Given the description of an element on the screen output the (x, y) to click on. 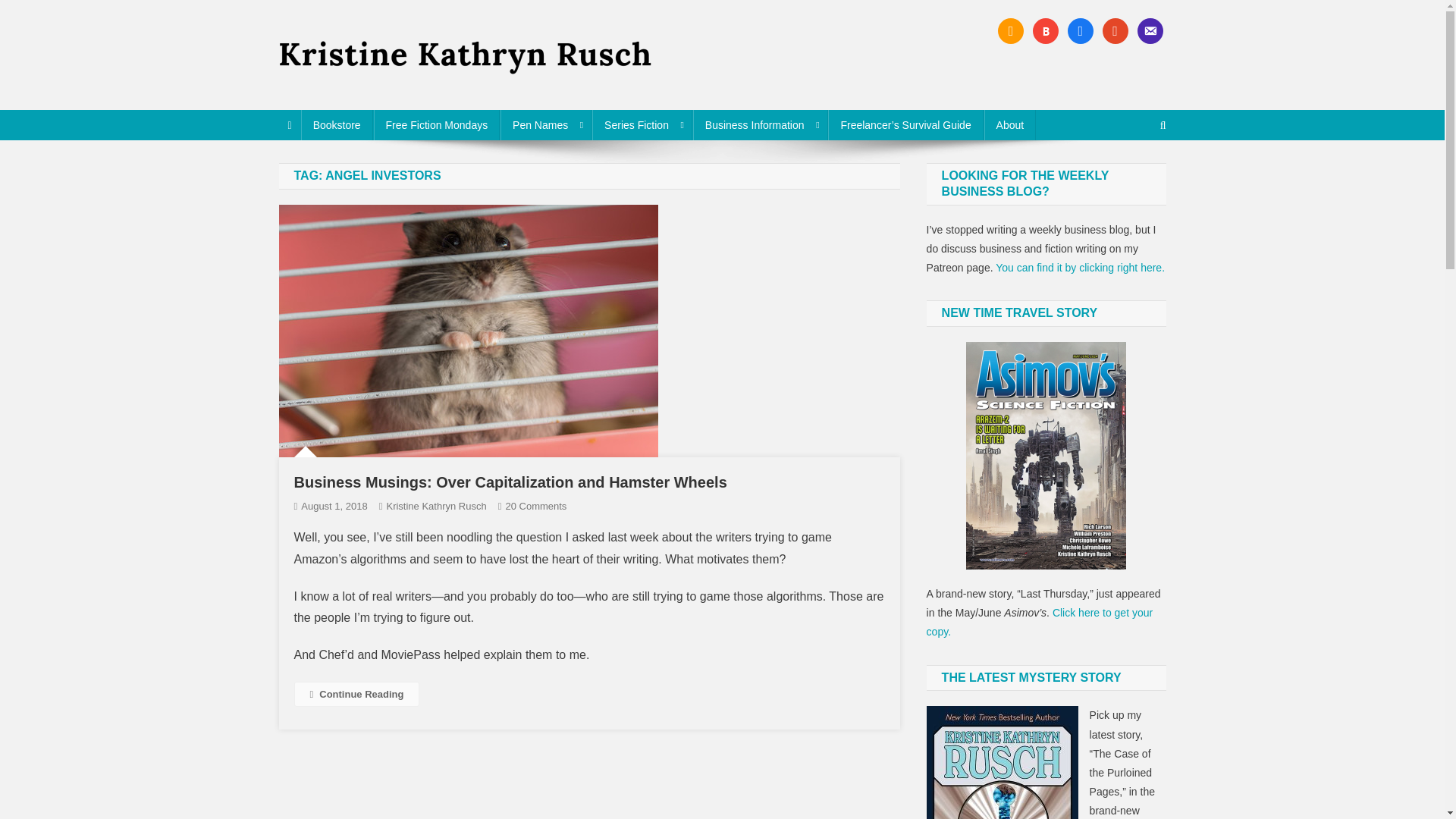
Kristine Kathryn Rusch (413, 94)
patreon (1115, 30)
editor-bold (1045, 30)
Twitter (1045, 30)
Continue Reading (357, 693)
amazon (1010, 30)
Search (1133, 175)
Facebook (1010, 30)
facebook (1080, 30)
email-alt (1150, 30)
Business Musings: Over Capitalization and Hamster Wheels (510, 482)
Pen Names (545, 124)
About (1010, 124)
You can find it by clicking right here. (1079, 267)
